Given the description of an element on the screen output the (x, y) to click on. 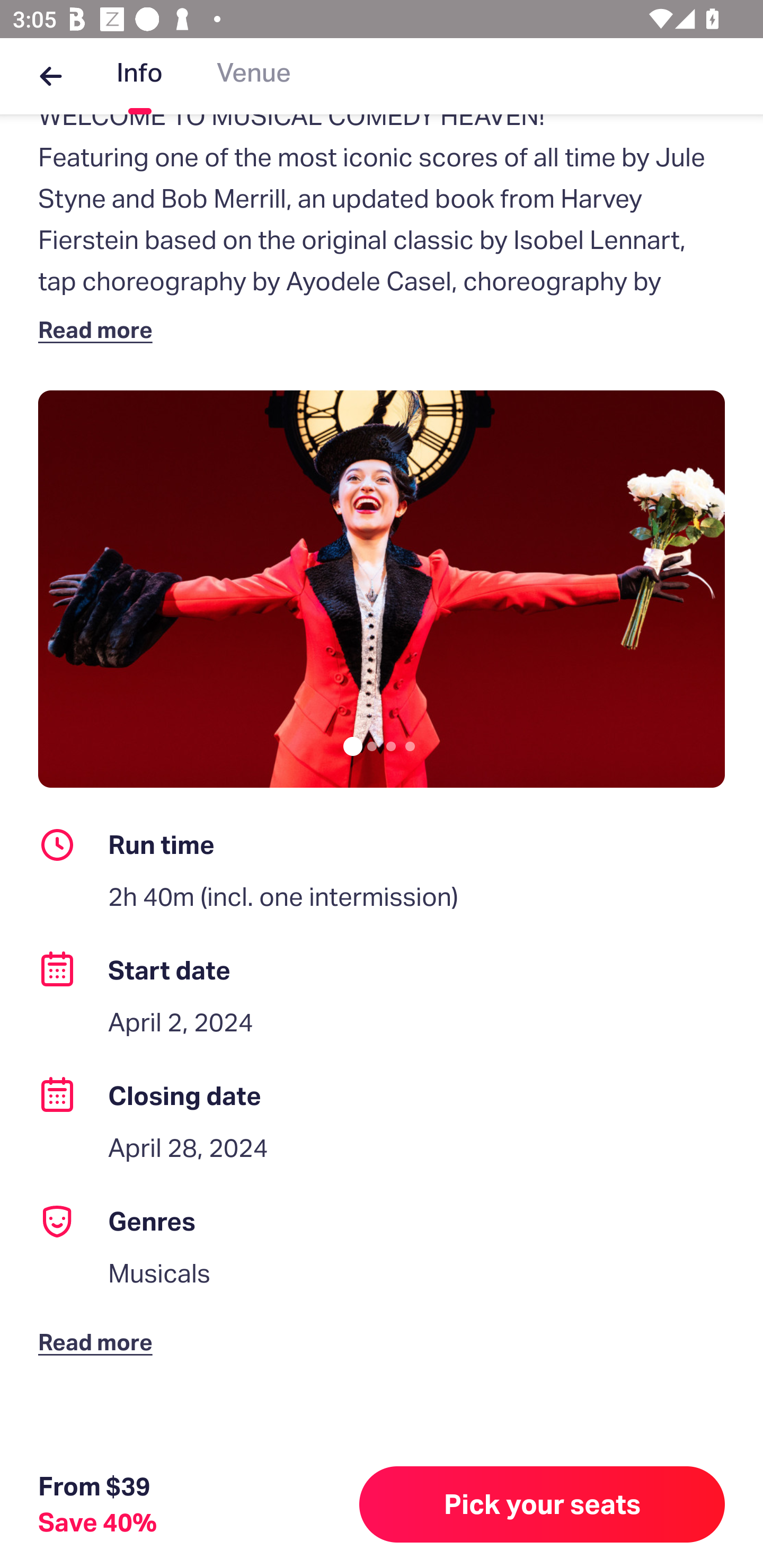
Venue (253, 75)
Read more (99, 328)
Read more (99, 1327)
Pick your seats (541, 1504)
